Given the description of an element on the screen output the (x, y) to click on. 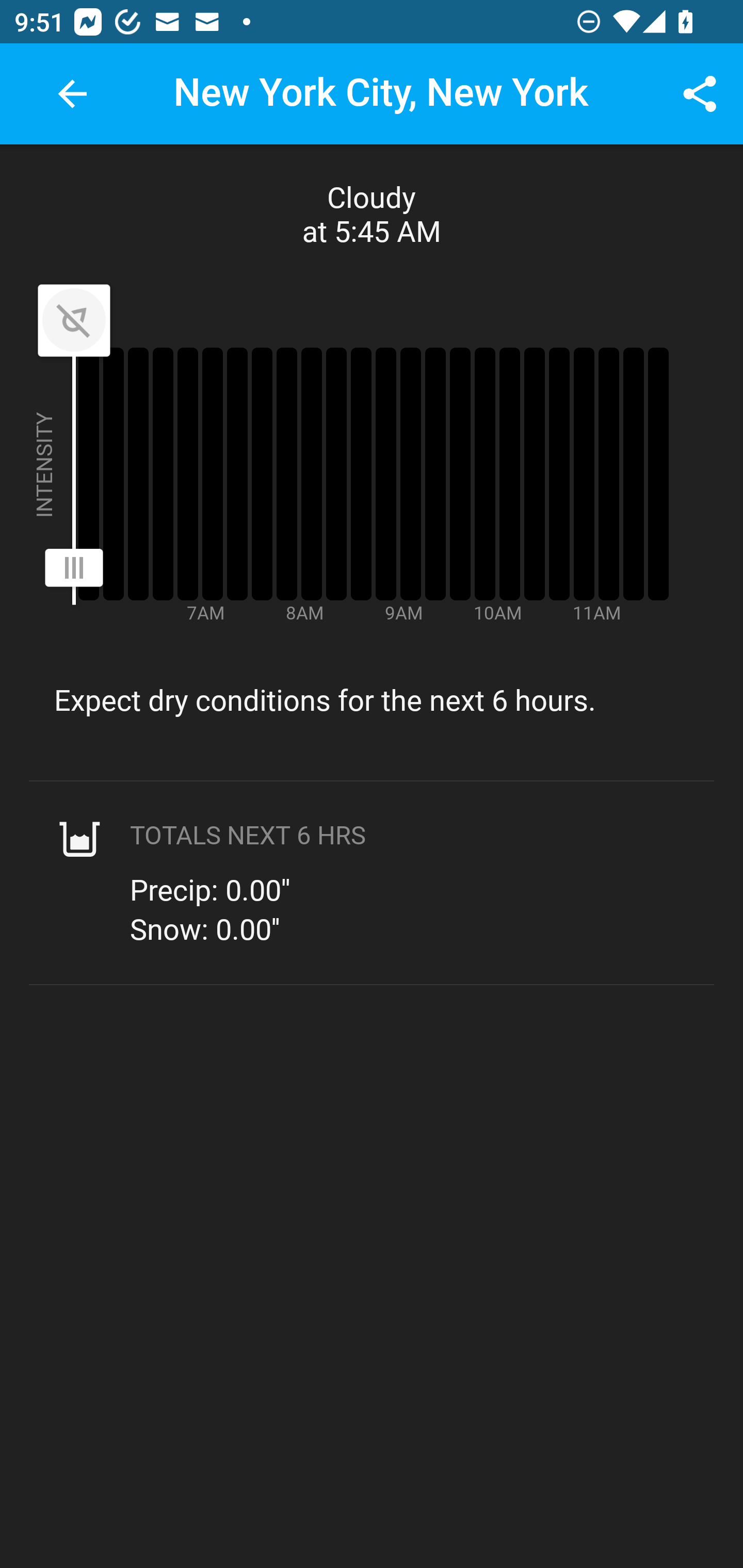
back (71, 93)
Share (699, 93)
